Given the description of an element on the screen output the (x, y) to click on. 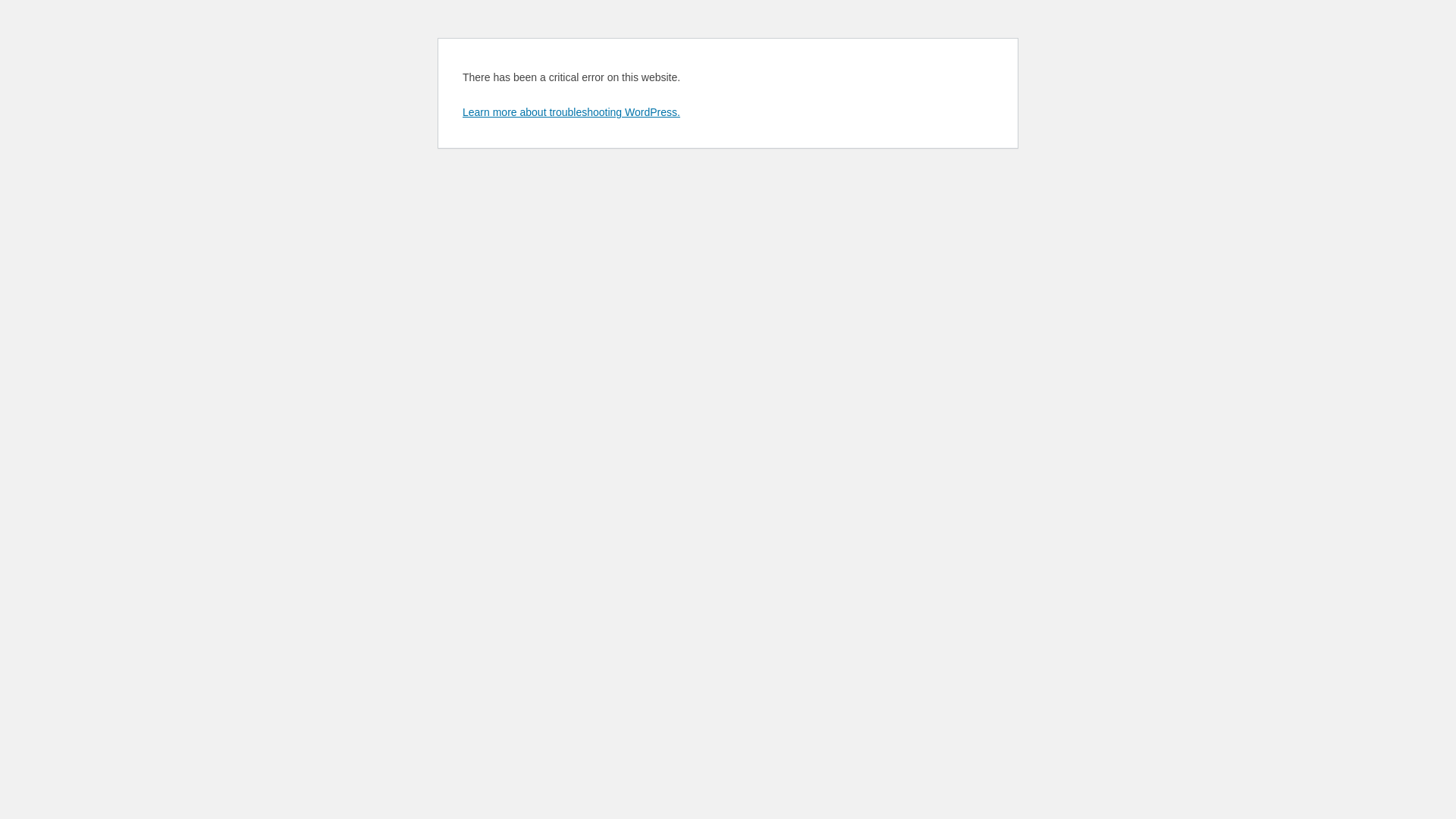
Learn more about troubleshooting WordPress. Element type: text (571, 112)
